Given the description of an element on the screen output the (x, y) to click on. 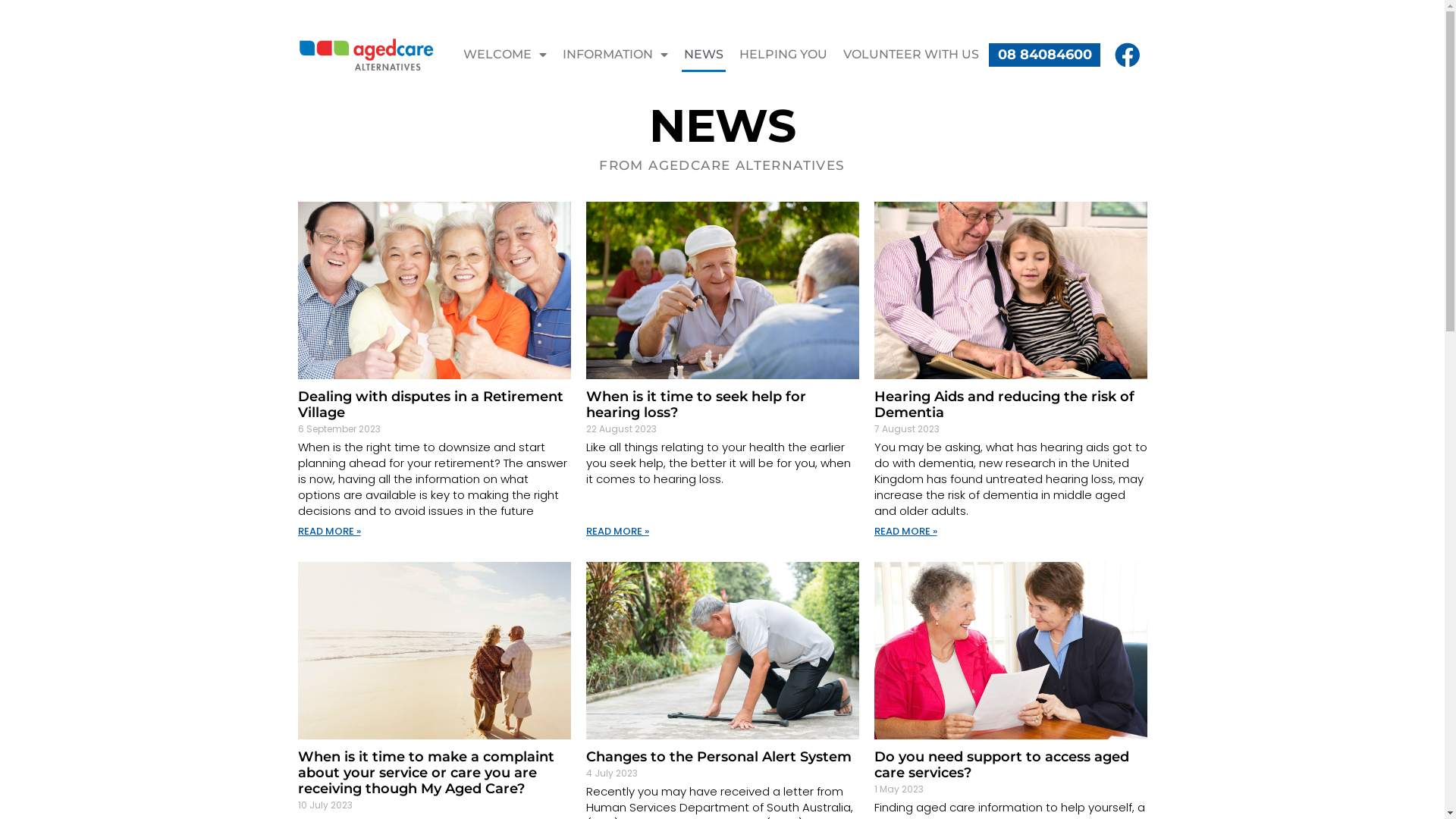
WELCOME Element type: text (505, 54)
INFORMATION Element type: text (615, 54)
Do you need support to access aged care services? Element type: text (1000, 764)
Dealing with disputes in a Retirement Village Element type: text (429, 404)
Hearing Aids and reducing the risk of Dementia Element type: text (1003, 404)
Changes to the Personal Alert System Element type: text (717, 756)
NEWS Element type: text (703, 54)
When is it time to seek help for hearing loss? Element type: text (695, 404)
VOLUNTEER WITH US Element type: text (910, 54)
HELPING YOU Element type: text (783, 54)
